Given the description of an element on the screen output the (x, y) to click on. 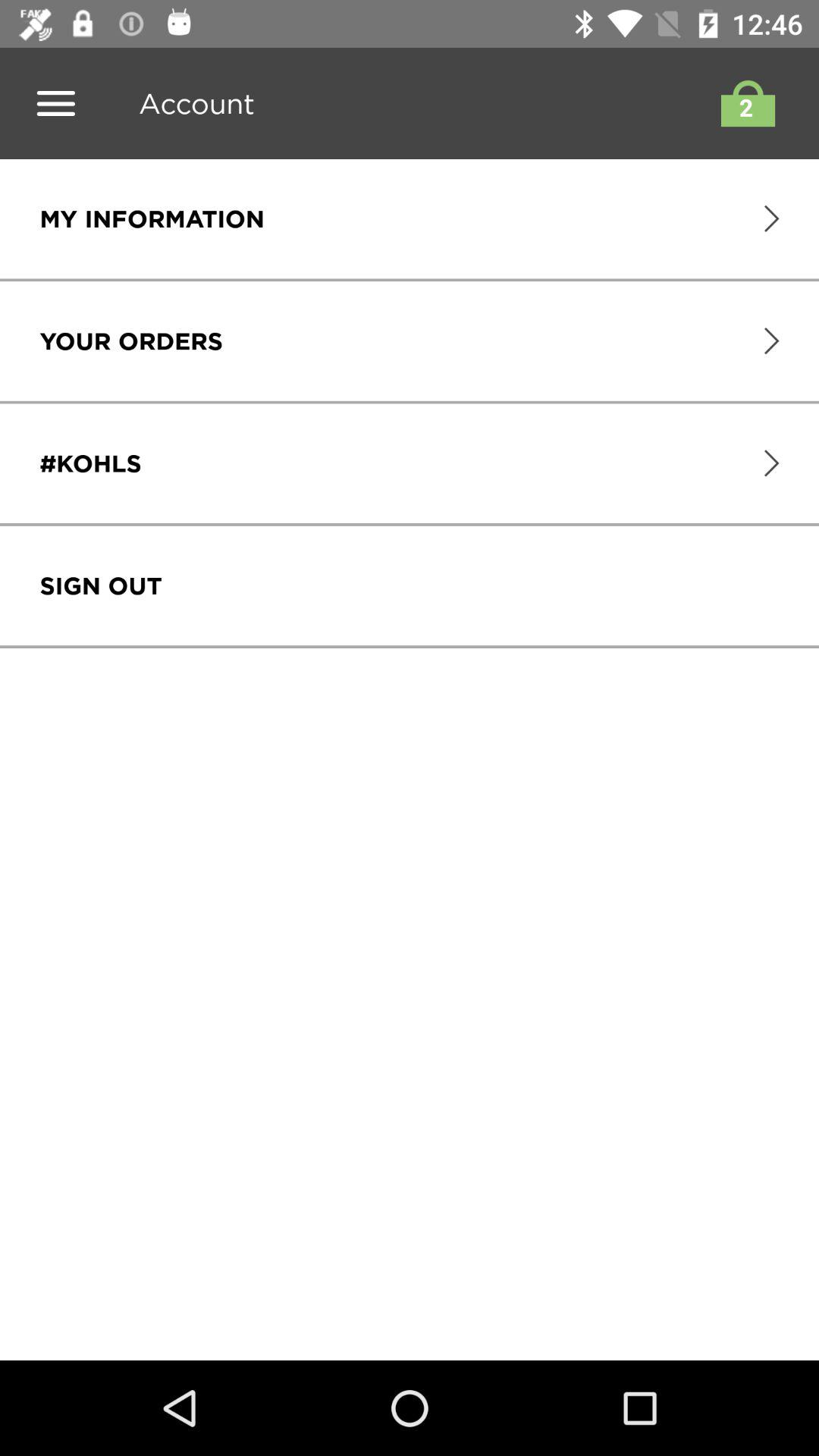
scroll to the your orders icon (130, 340)
